Given the description of an element on the screen output the (x, y) to click on. 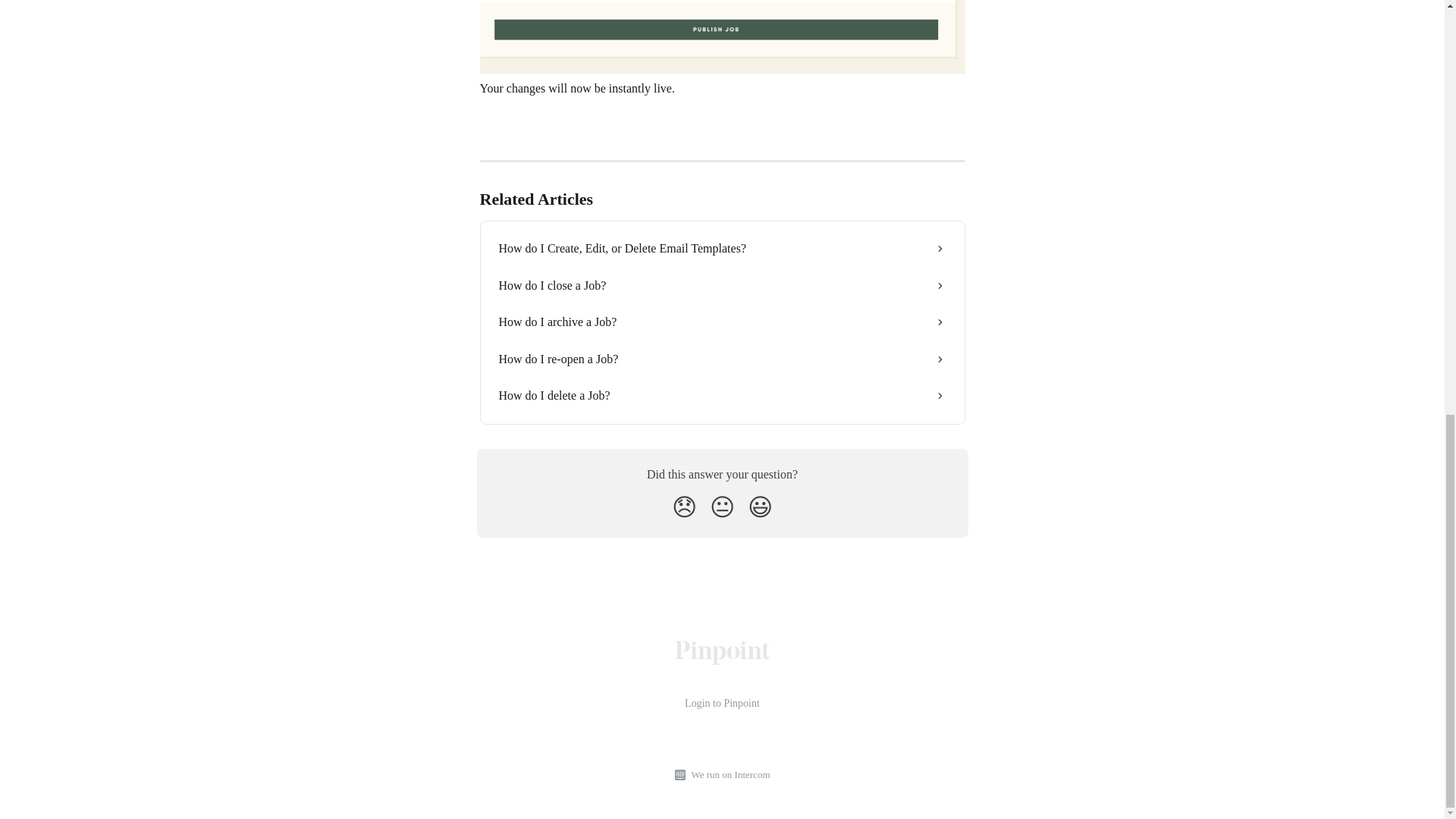
How do I re-open a Job? (722, 359)
Disappointed (684, 506)
Neutral (722, 506)
We run on Intercom (727, 774)
How do I Create, Edit, or Delete Email Templates? (722, 248)
Smiley (760, 506)
Login to Pinpoint (722, 703)
How do I archive a Job? (722, 321)
How do I close a Job? (722, 285)
How do I delete a Job? (722, 395)
